Given the description of an element on the screen output the (x, y) to click on. 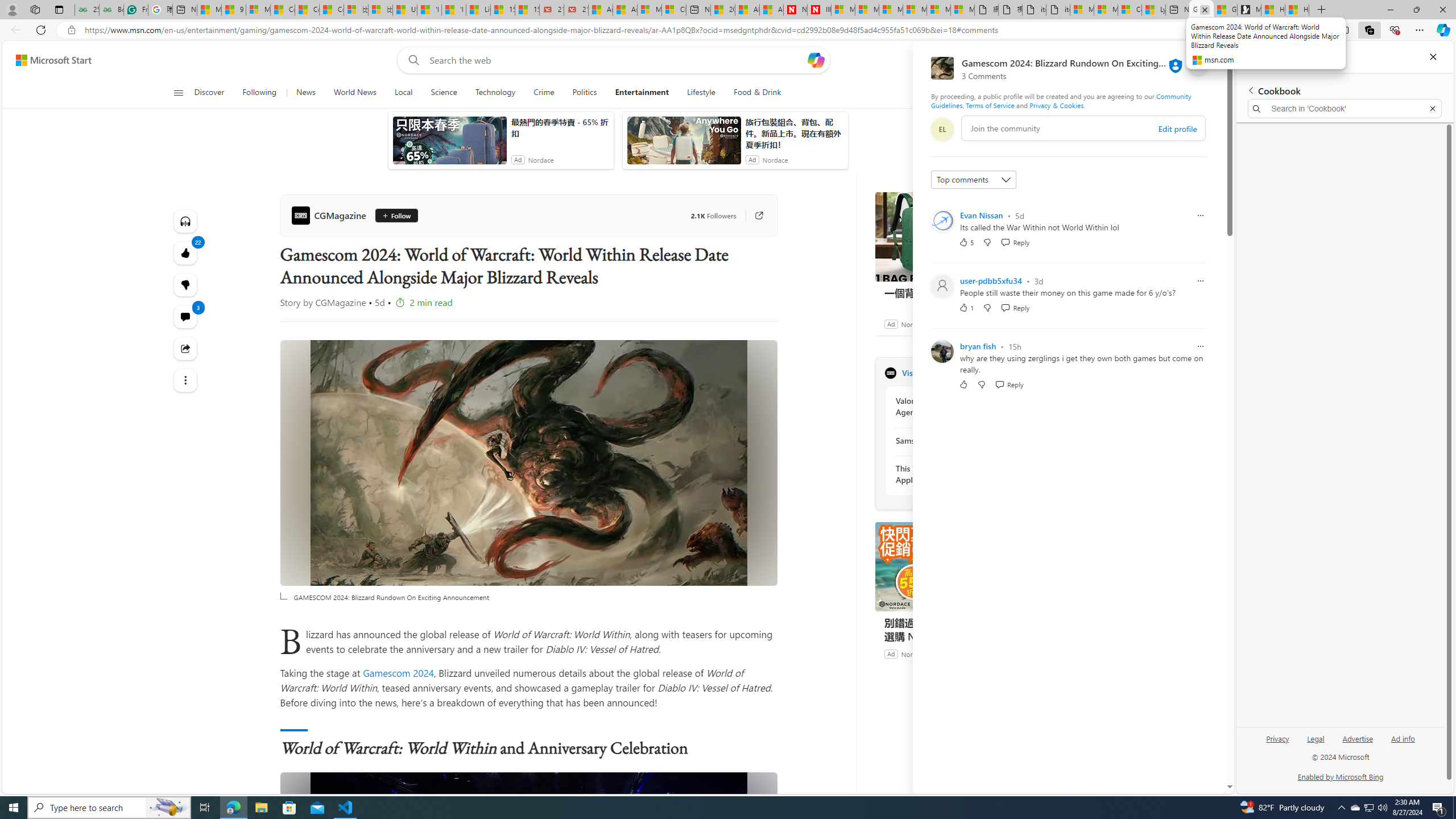
25 Basic Linux Commands For Beginners - GeeksforGeeks (86, 9)
anim-content (683, 144)
How to Use a TV as a Computer Monitor (1296, 9)
user-pdbb5xfu34 (990, 280)
15 Ways Modern Life Contradicts the Teachings of Jesus (526, 9)
Edit profile (1176, 128)
